Given the description of an element on the screen output the (x, y) to click on. 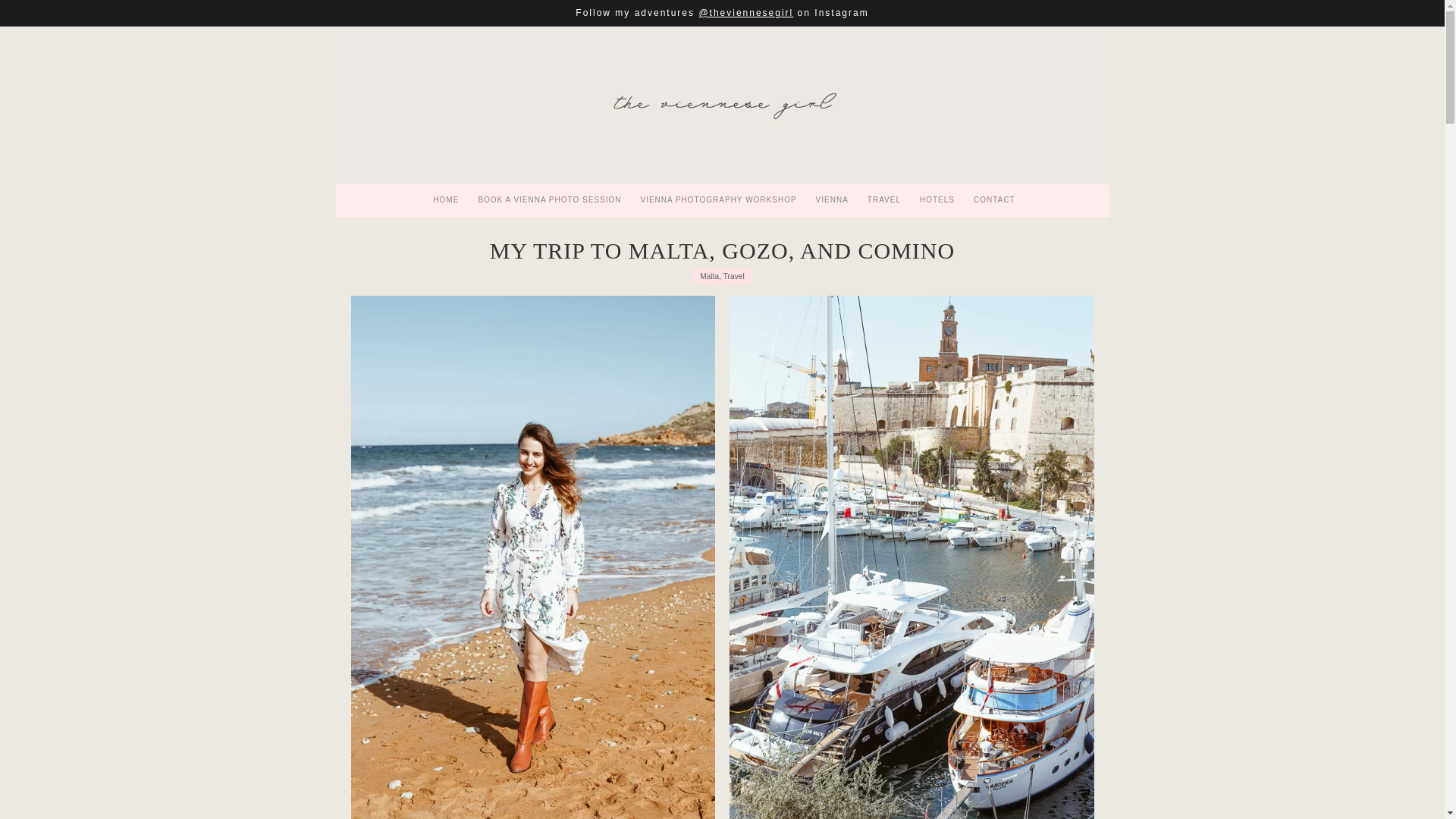
Photography Workshop (718, 210)
Instagram (840, 23)
BOOK A VIENNA PHOTO SESSION (548, 210)
HOME (446, 210)
VIENNA (832, 210)
Vienna Photographer (721, 115)
TRAVEL (884, 210)
VIENNA PHOTOGRAPHY WORKSHOP (718, 210)
Book a photo session (548, 210)
